Given the description of an element on the screen output the (x, y) to click on. 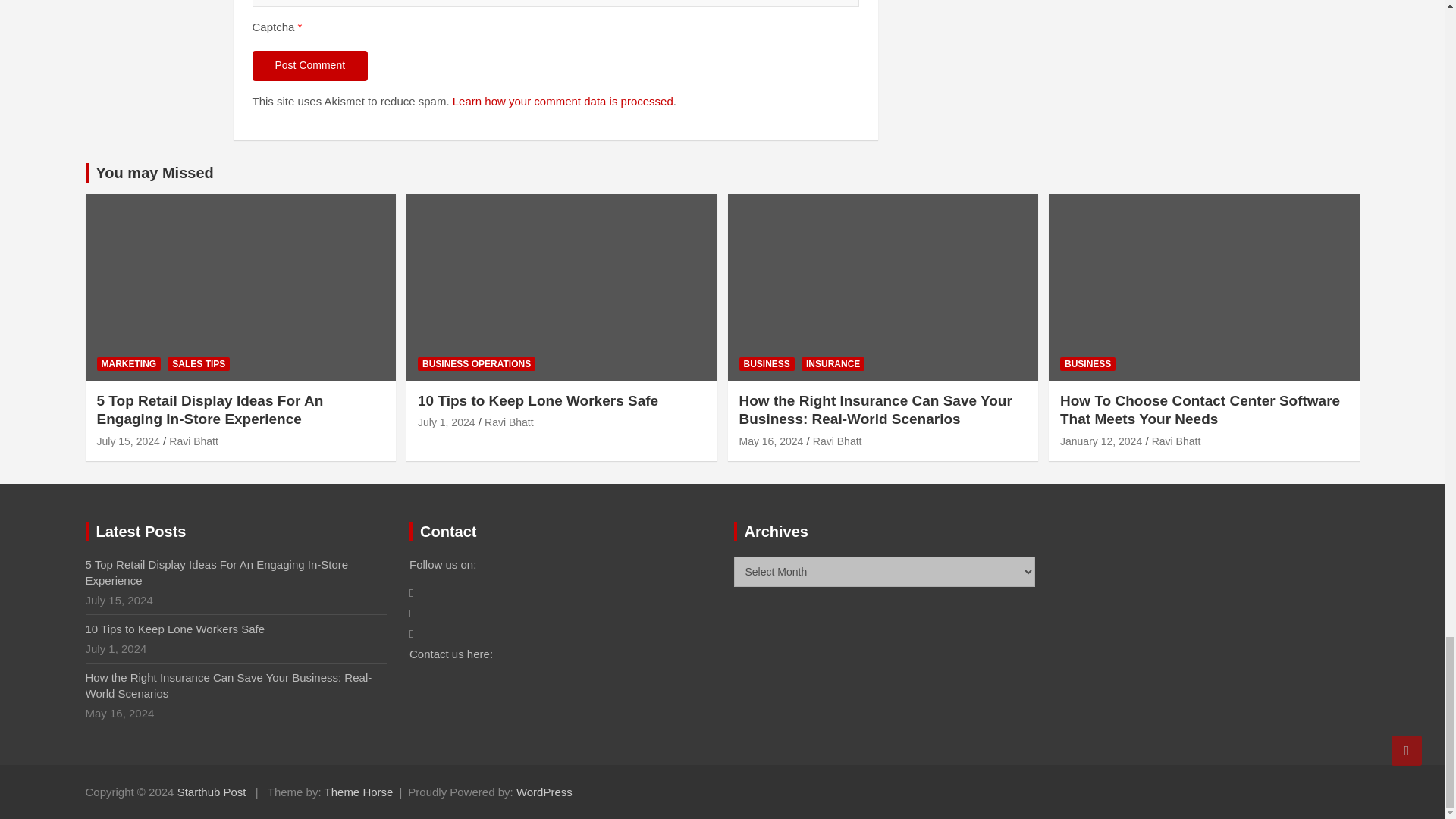
How To Choose Contact Center Software That Meets Your Needs (1100, 440)
Theme Horse (358, 791)
Starthub Post (211, 791)
Post Comment (309, 65)
10 Tips to Keep Lone Workers Safe (446, 422)
WordPress (544, 791)
